Given the description of an element on the screen output the (x, y) to click on. 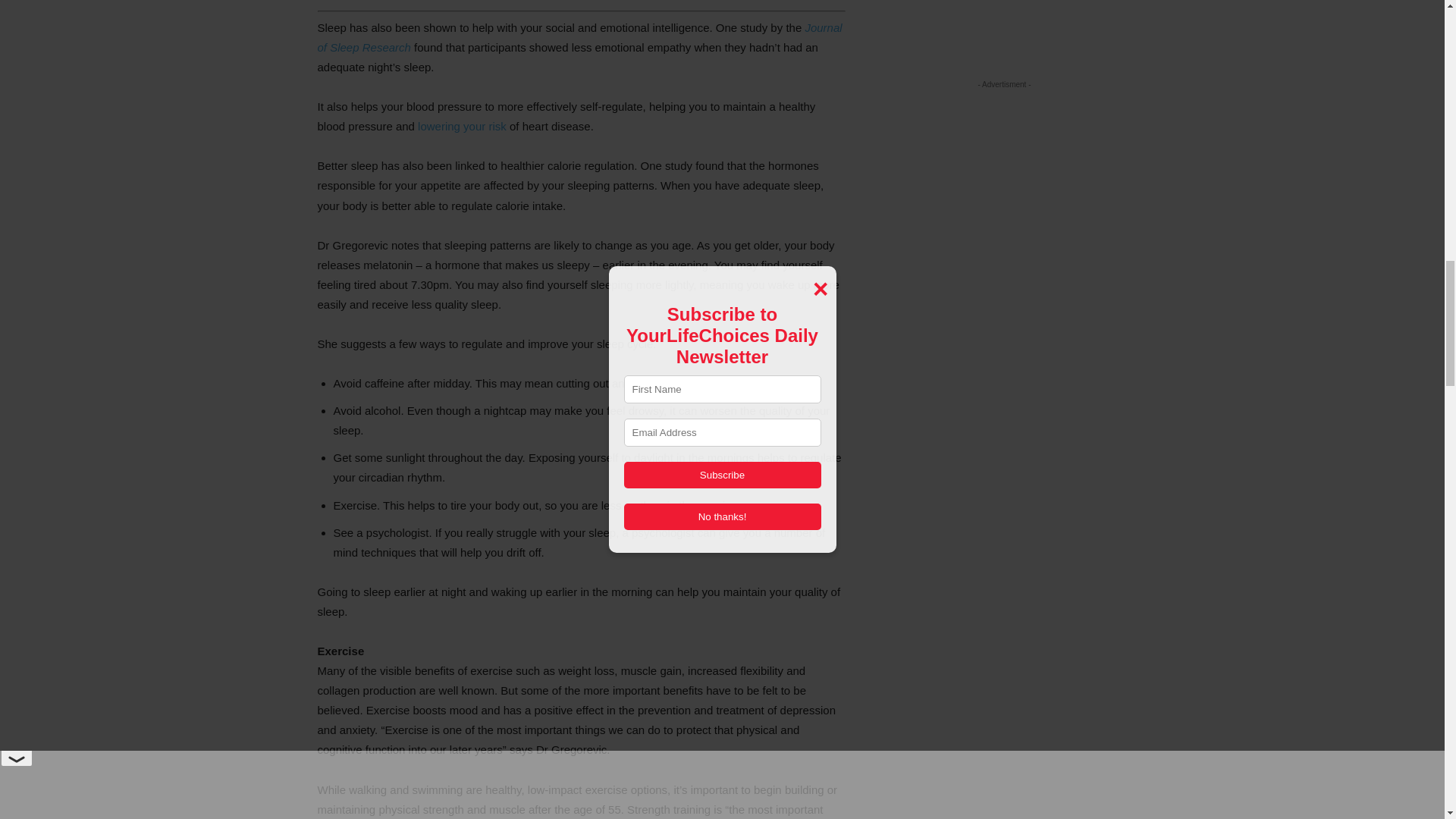
3rd party ad content (580, 2)
